Given the description of an element on the screen output the (x, y) to click on. 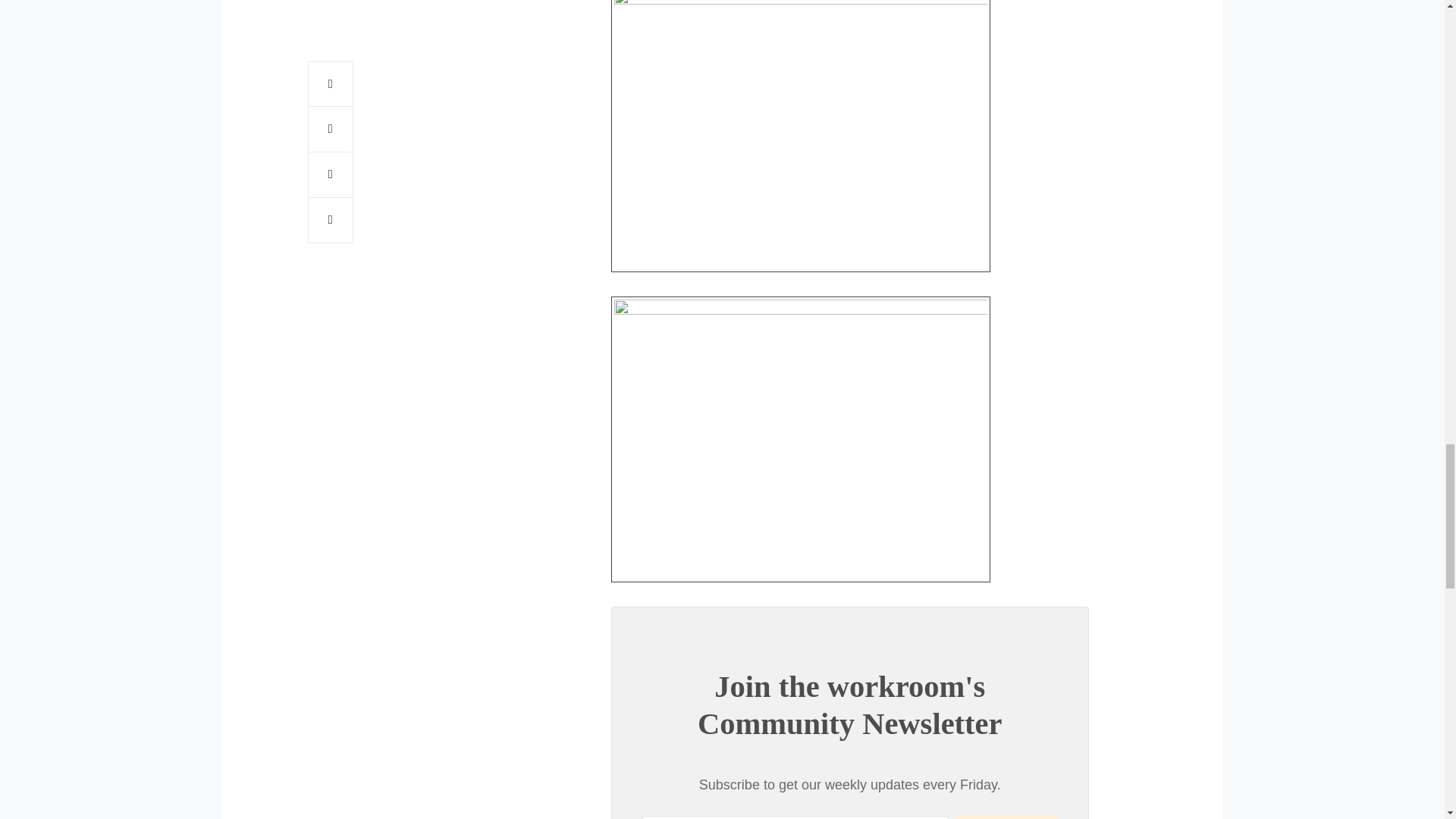
Shannon Gerrard by the workroom, on Flickr (800, 438)
Shannon Gerrard by the workroom, on Flickr (800, 128)
